Given the description of an element on the screen output the (x, y) to click on. 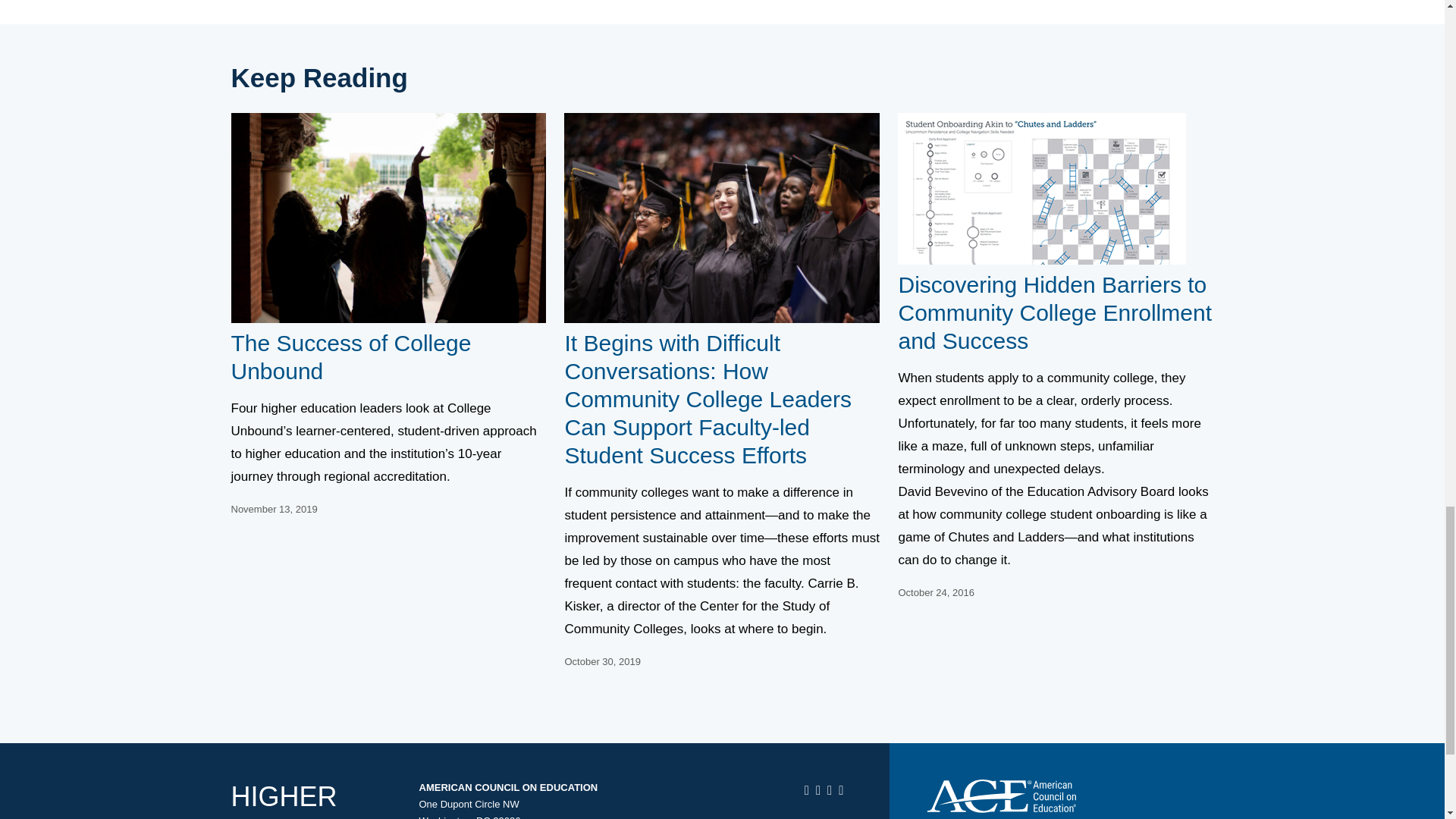
HIGHER EDUCATION TODAY (309, 800)
The Success of College Unbound (350, 357)
